Given the description of an element on the screen output the (x, y) to click on. 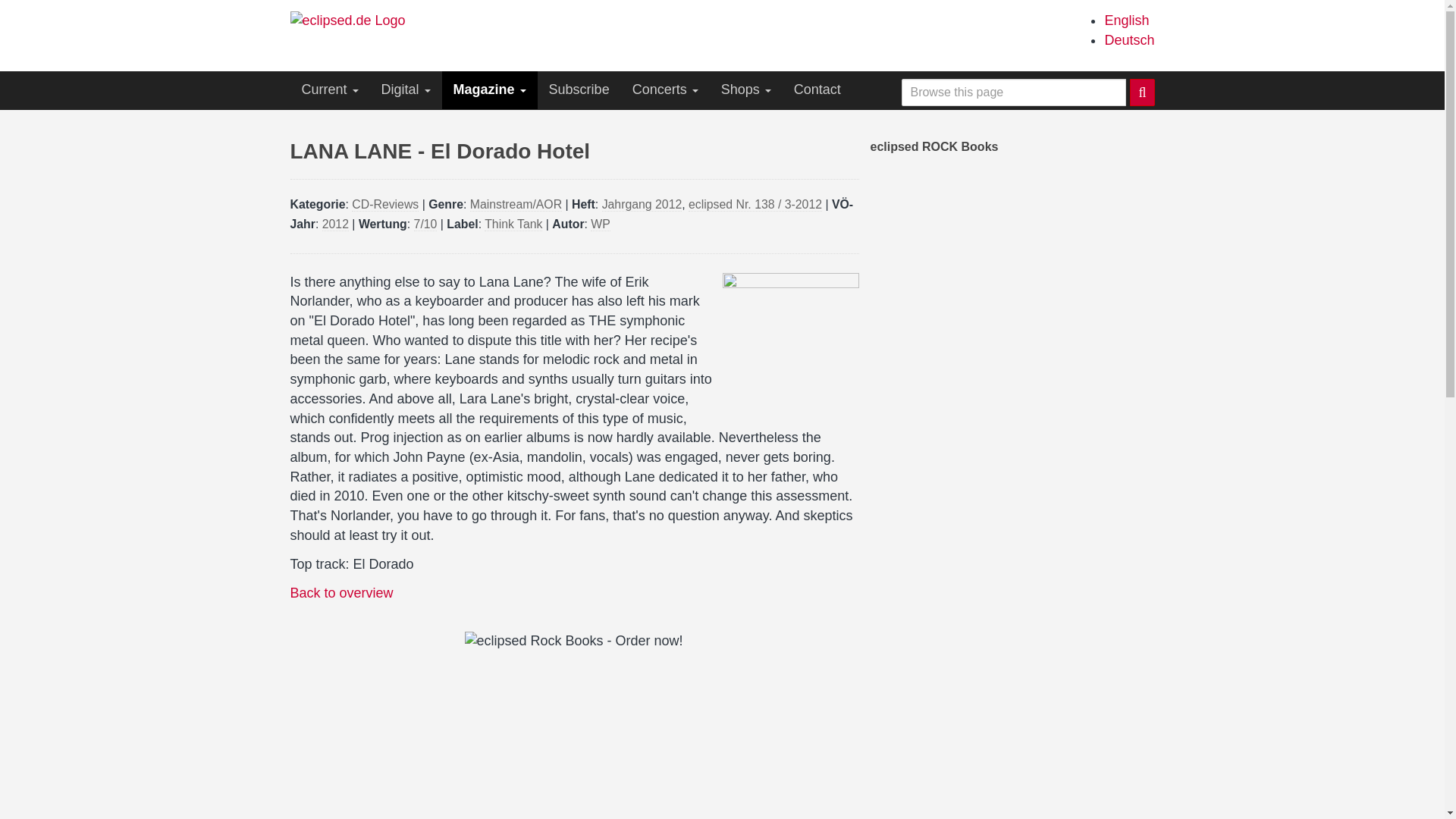
Think Tank (512, 223)
Jahrgang 2012 (642, 204)
2012 (335, 223)
Back to overview (341, 592)
LANA LANE - El Dorado Hotel (1125, 20)
WP (600, 223)
Digital (405, 89)
CD-Reviews (385, 204)
